Given the description of an element on the screen output the (x, y) to click on. 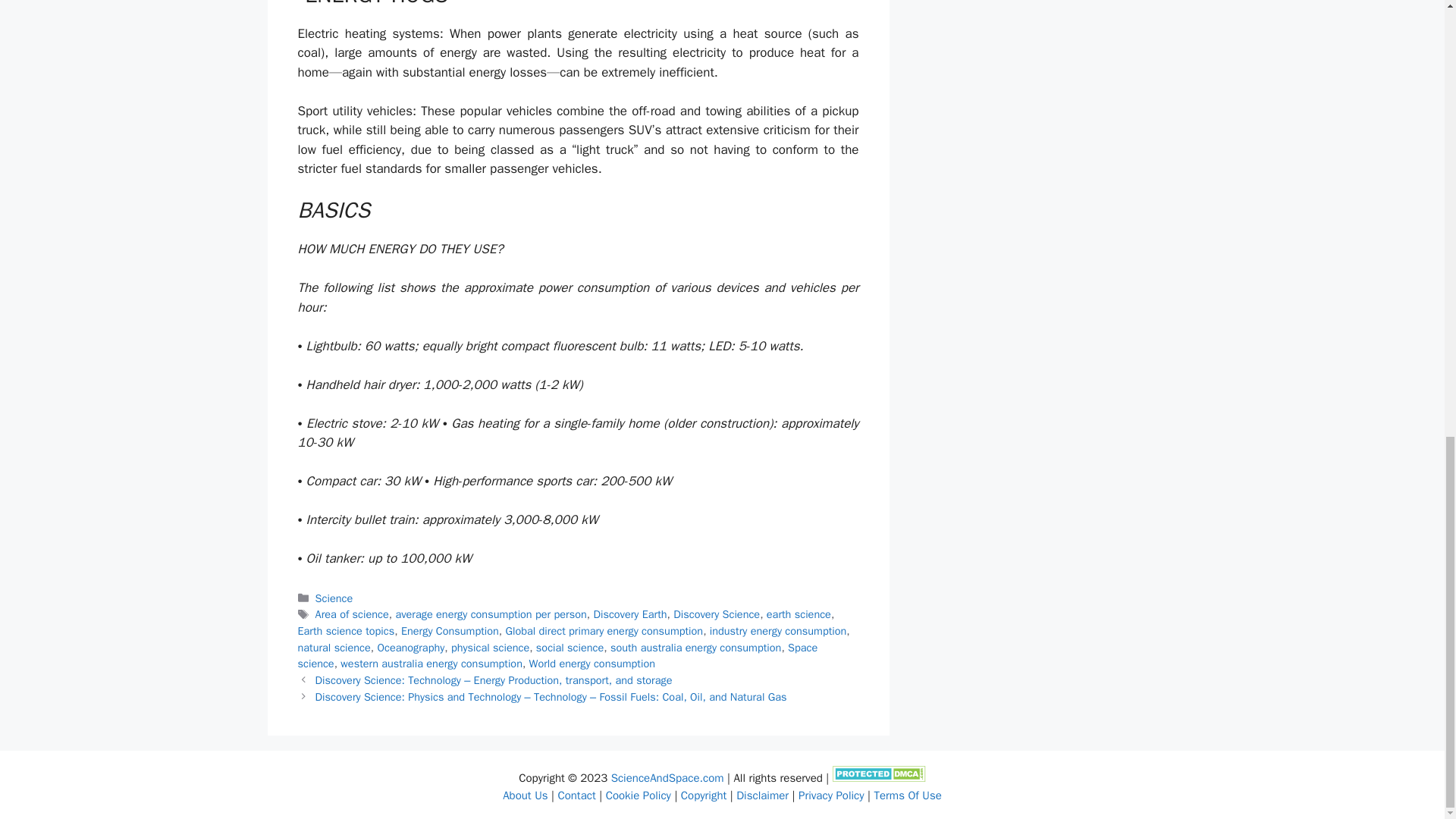
Space science (556, 655)
Earth science topics (345, 631)
south australia energy consumption (695, 647)
Energy Consumption (450, 631)
Discovery Science (716, 613)
industry energy consumption (778, 631)
physical science (490, 647)
DMCA.com Protection Status (879, 777)
social science (569, 647)
Oceanography (410, 647)
